Given the description of an element on the screen output the (x, y) to click on. 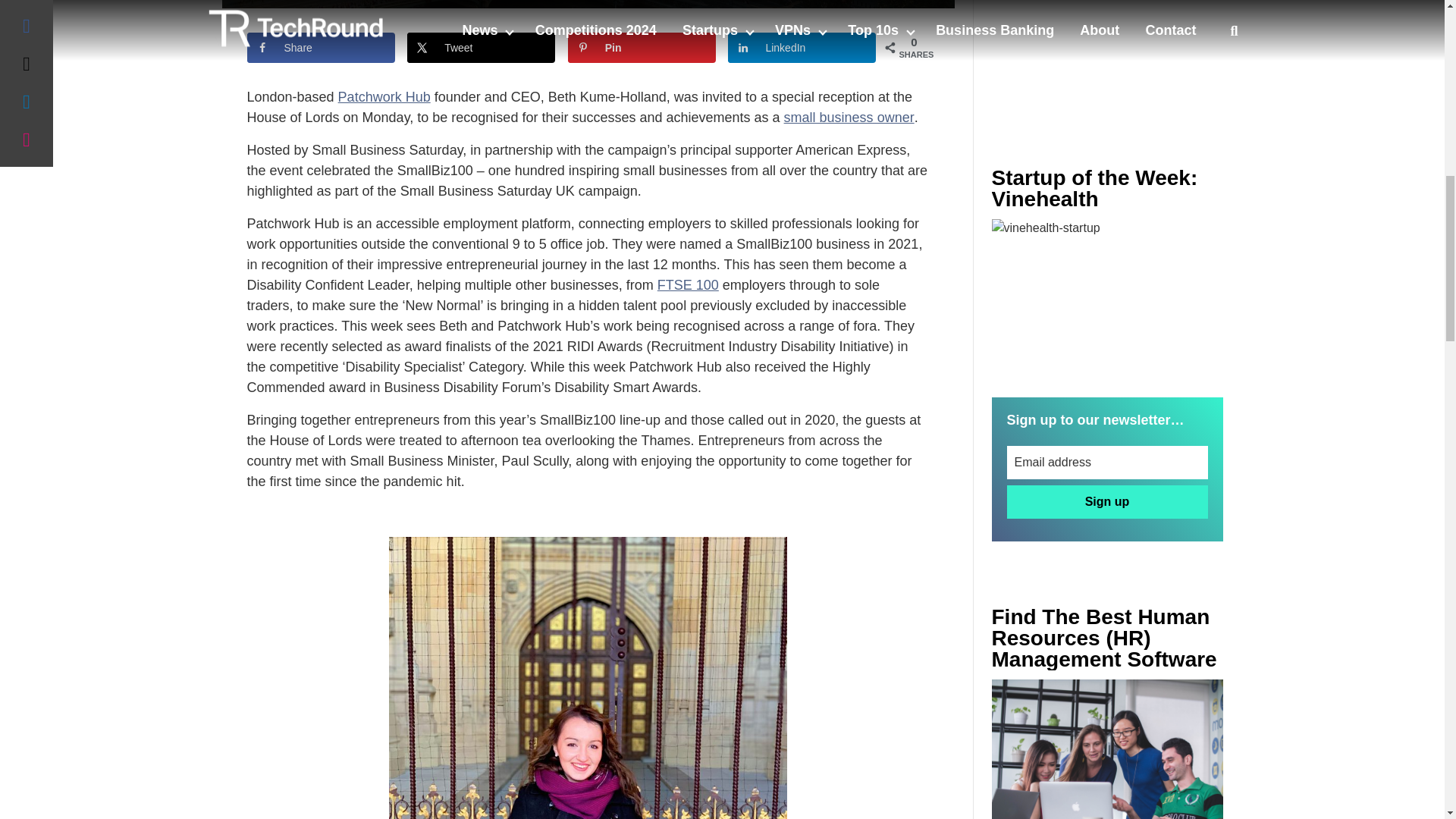
Share on LinkedIn (802, 47)
Advertisement (1107, 53)
Enter The BAME Top 50 Entrepreneurs - Deadline 10th Nov 2021 (1107, 749)
Share on X (480, 47)
Sign up (1107, 501)
Share on Facebook (320, 47)
Startup of the Week: Neon Link (1107, 296)
Save to Pinterest (641, 47)
